Given the description of an element on the screen output the (x, y) to click on. 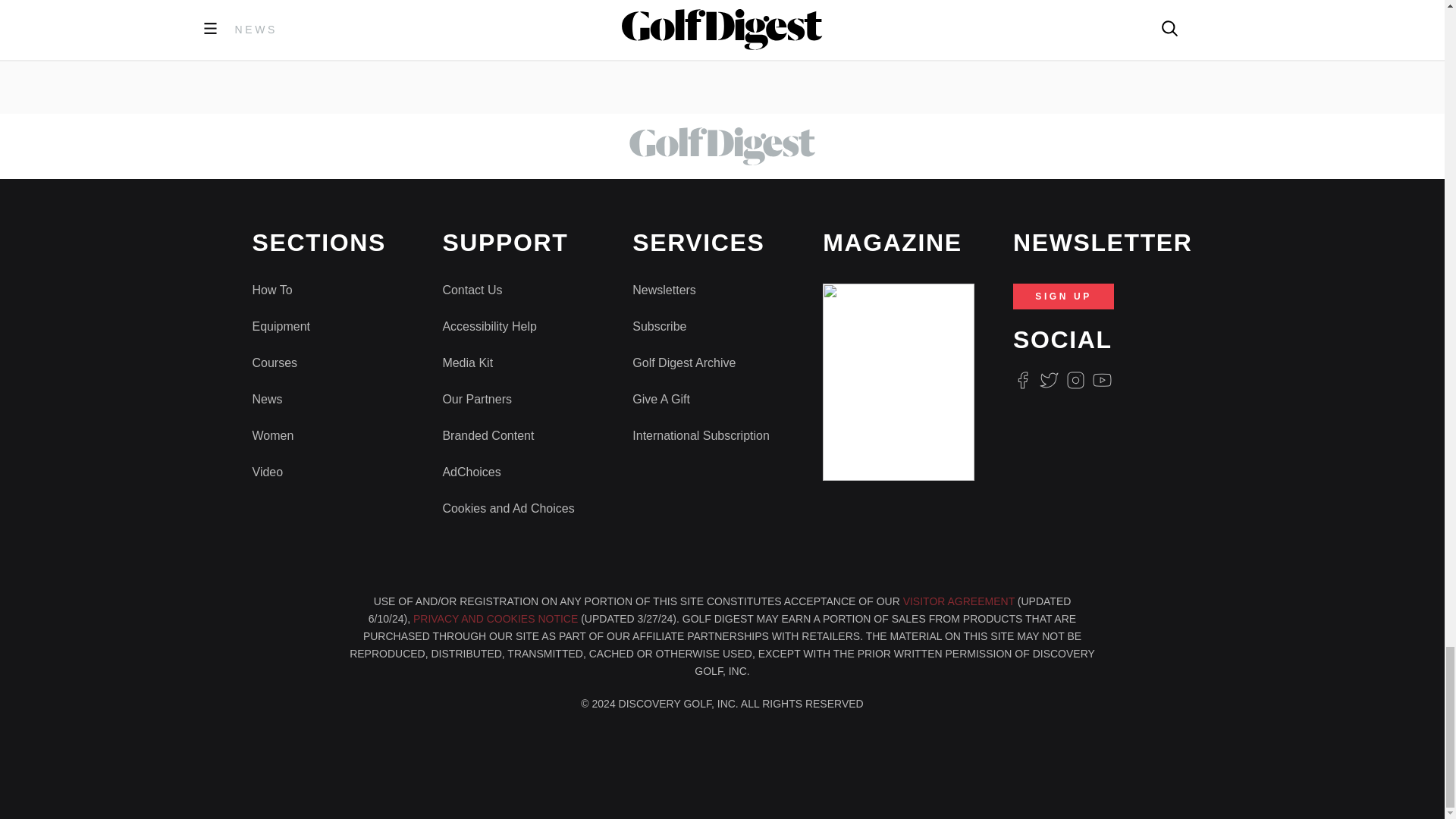
Twitter Logo (1048, 380)
Instagram Logo (1074, 380)
Facebook Logo (1022, 380)
Youtube Icon (1102, 380)
